Given the description of an element on the screen output the (x, y) to click on. 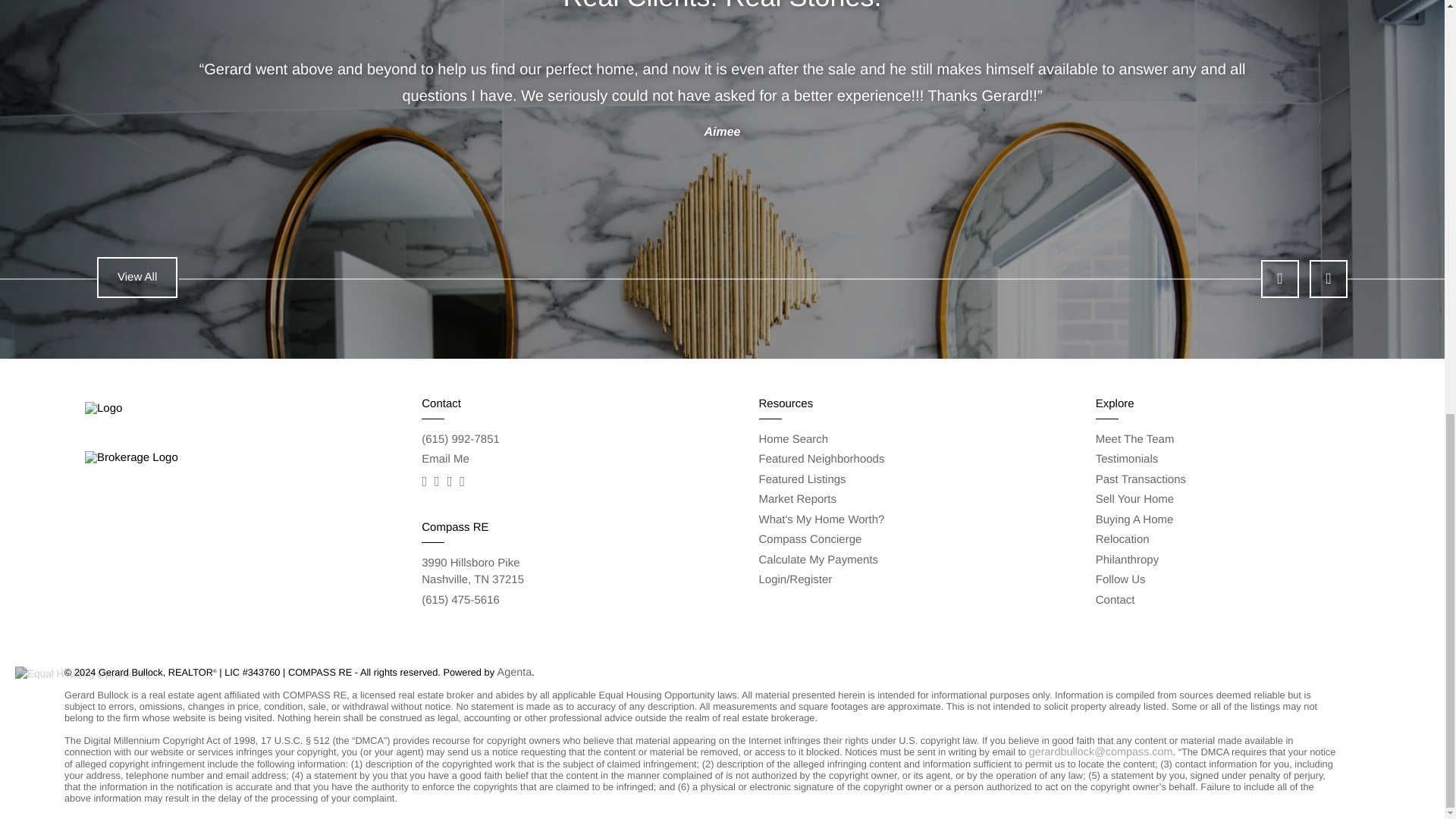
Brokerage Logo (473, 571)
Email Me (171, 457)
Equal Housing Opportunity (445, 459)
View All (81, 673)
Logo (137, 271)
